Given the description of an element on the screen output the (x, y) to click on. 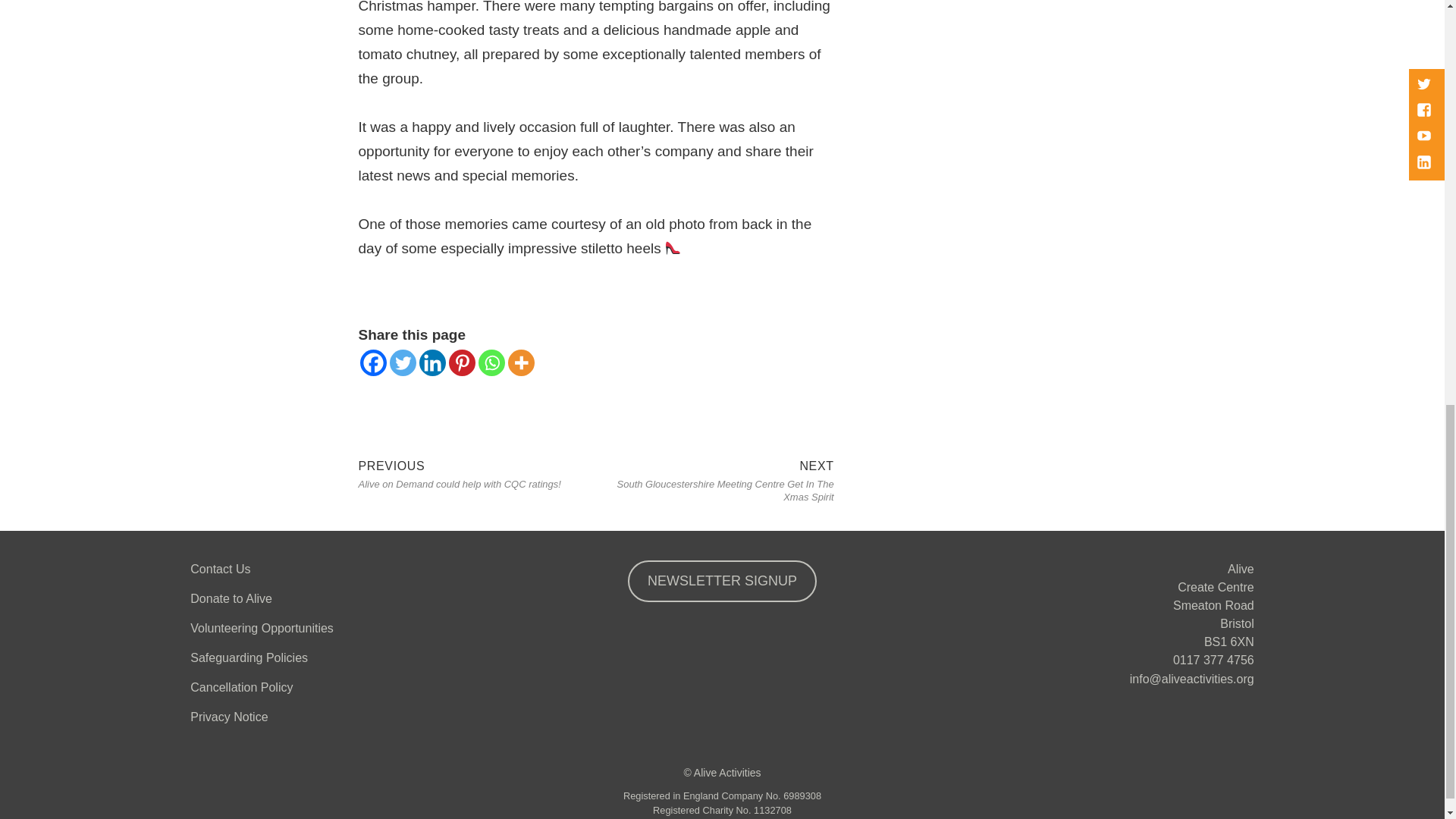
Twitter (403, 362)
Whatsapp (490, 362)
Alive Activities (727, 771)
Pinterest (462, 362)
Linkedin (432, 362)
More (521, 362)
Facebook (372, 362)
